Given the description of an element on the screen output the (x, y) to click on. 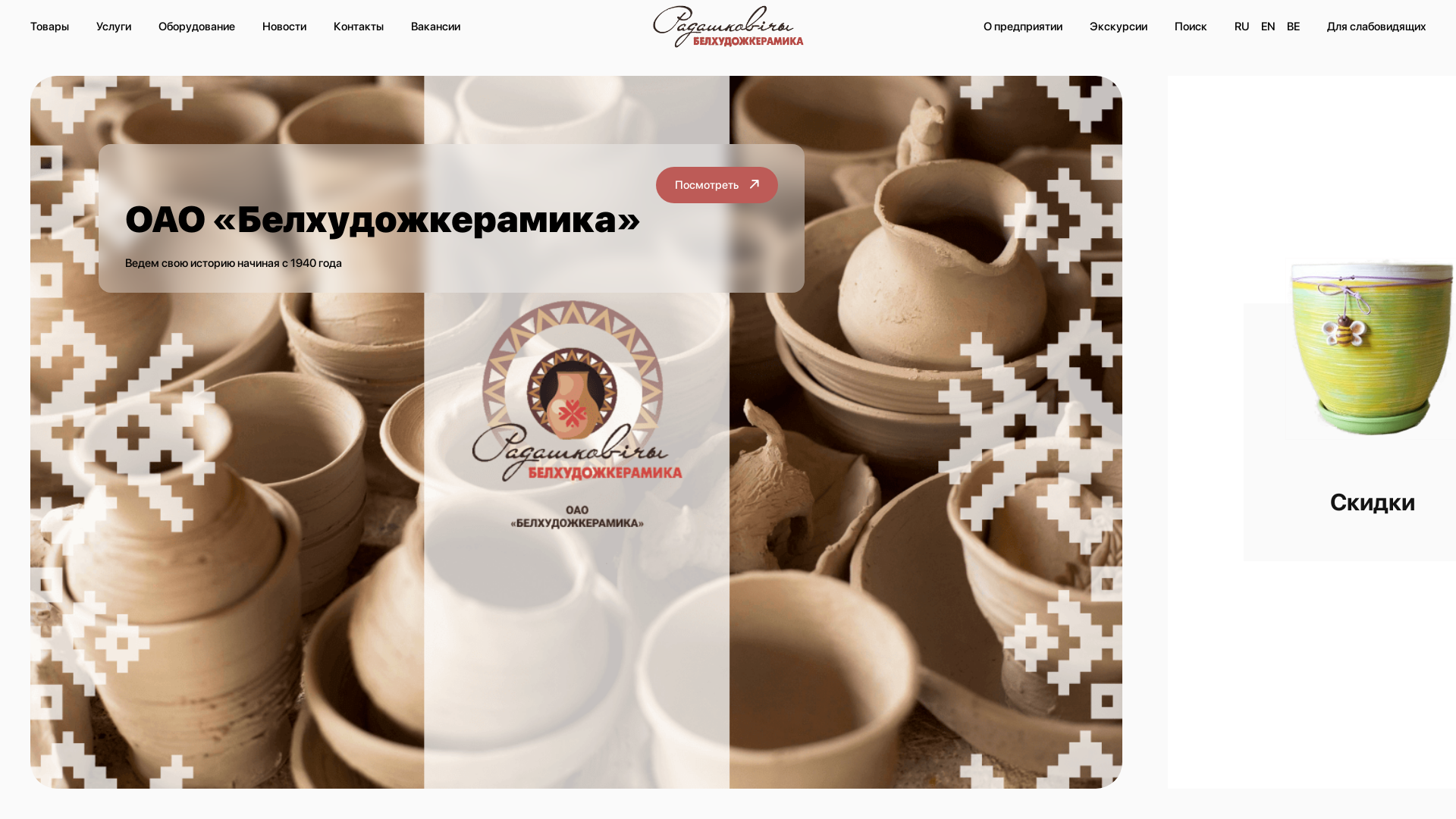
RU Element type: text (1241, 26)
BE Element type: text (1292, 26)
EN Element type: text (1268, 26)
